Given the description of an element on the screen output the (x, y) to click on. 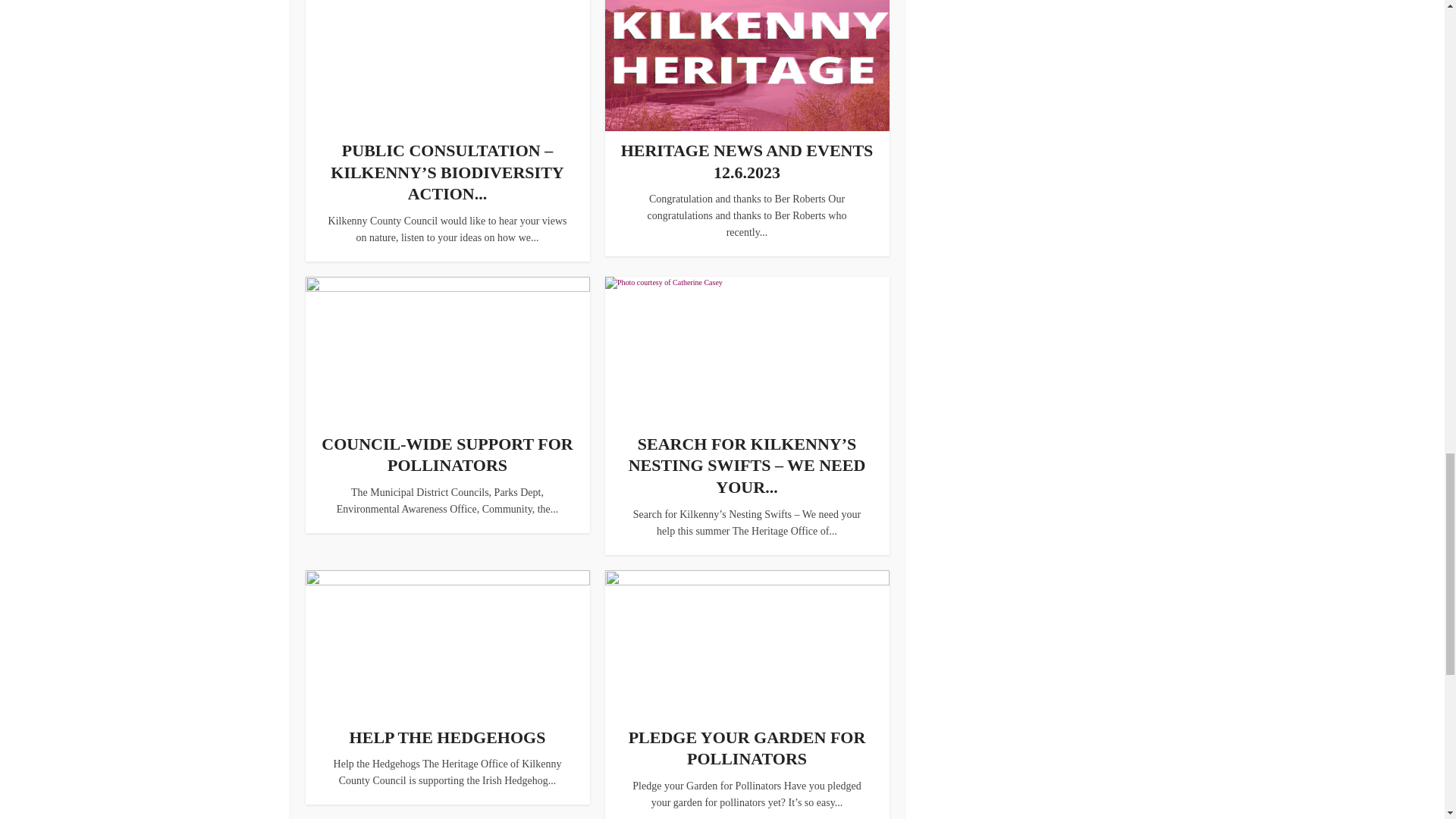
Heritage News and Events 12.6.2023 (747, 160)
Help the Hedgehogs (447, 737)
Council-wide support for Pollinators (446, 454)
PLEDGE YOUR GARDEN FOR POLLINATORS (747, 748)
HELP THE HEDGEHOGS (447, 737)
HERITAGE NEWS AND EVENTS 12.6.2023 (747, 160)
COUNCIL-WIDE SUPPORT FOR POLLINATORS (446, 454)
Pledge your Garden for Pollinators (747, 748)
